Given the description of an element on the screen output the (x, y) to click on. 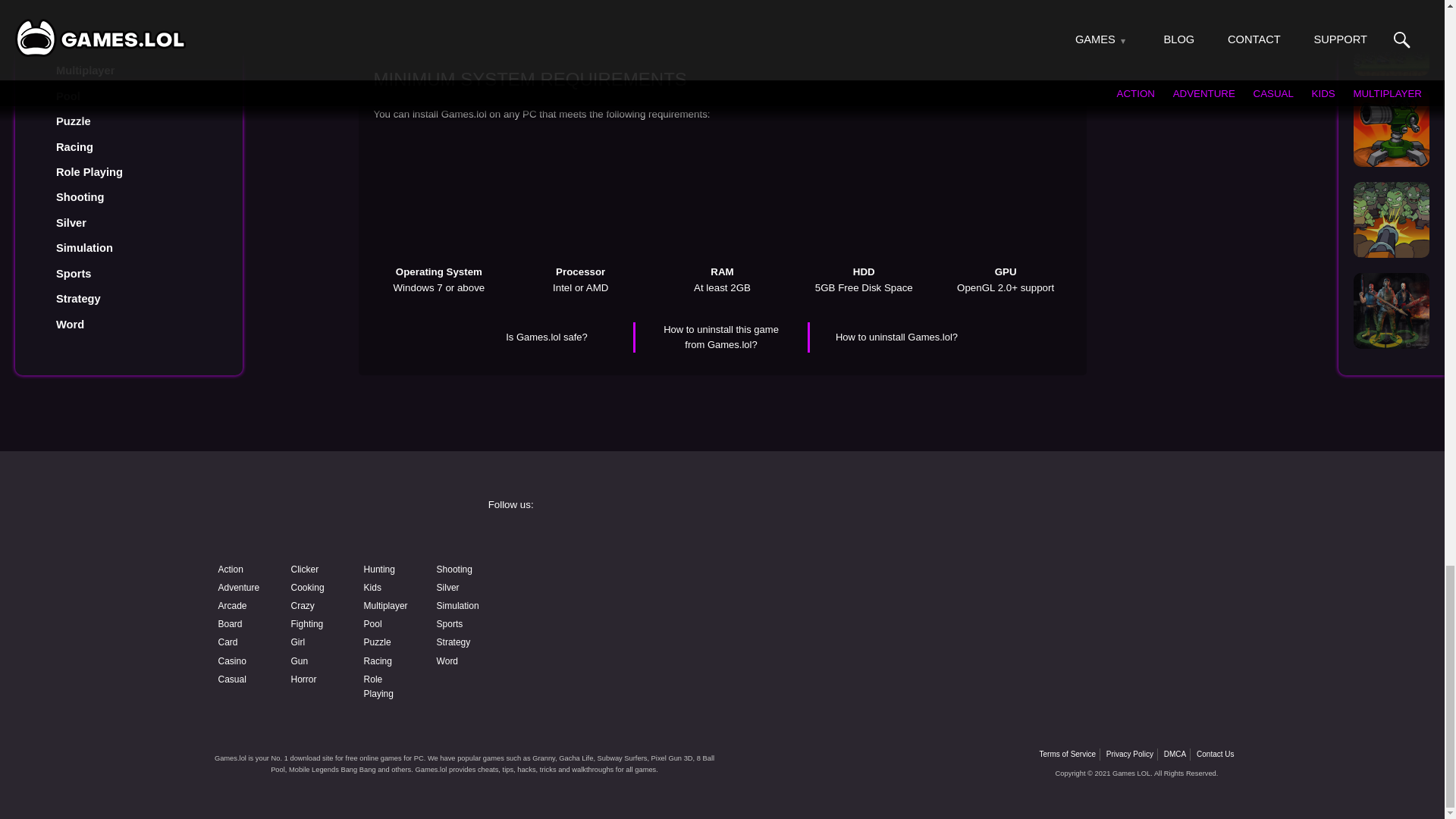
Twitter (1073, 540)
Facebook (603, 540)
Instagram (838, 540)
Games.lol free game download website logo (319, 519)
YouTube (603, 579)
Discord (838, 579)
Reddit (603, 619)
Pinterest (1073, 579)
